Given the description of an element on the screen output the (x, y) to click on. 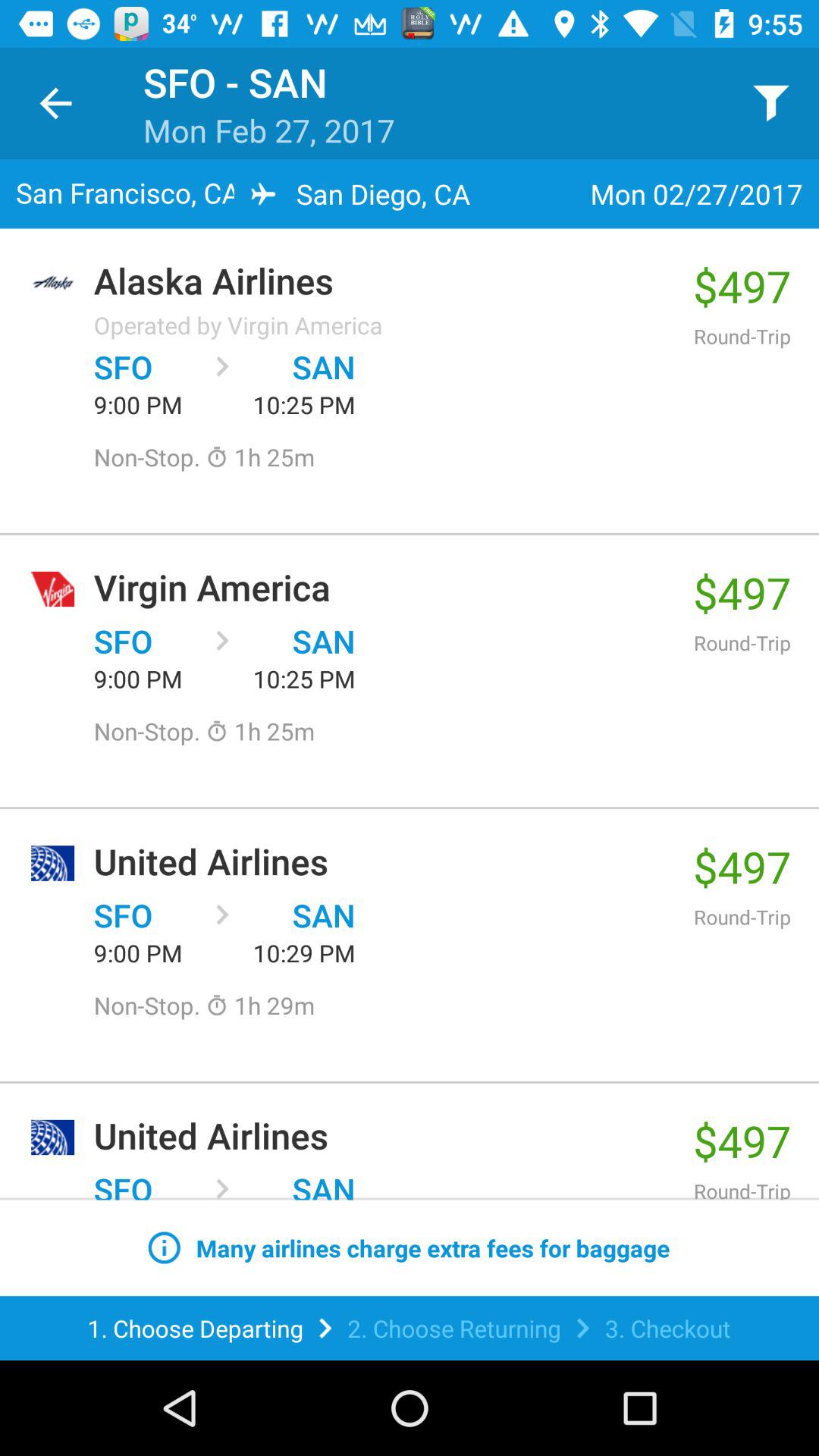
jump to 1h 29m (260, 1005)
